Given the description of an element on the screen output the (x, y) to click on. 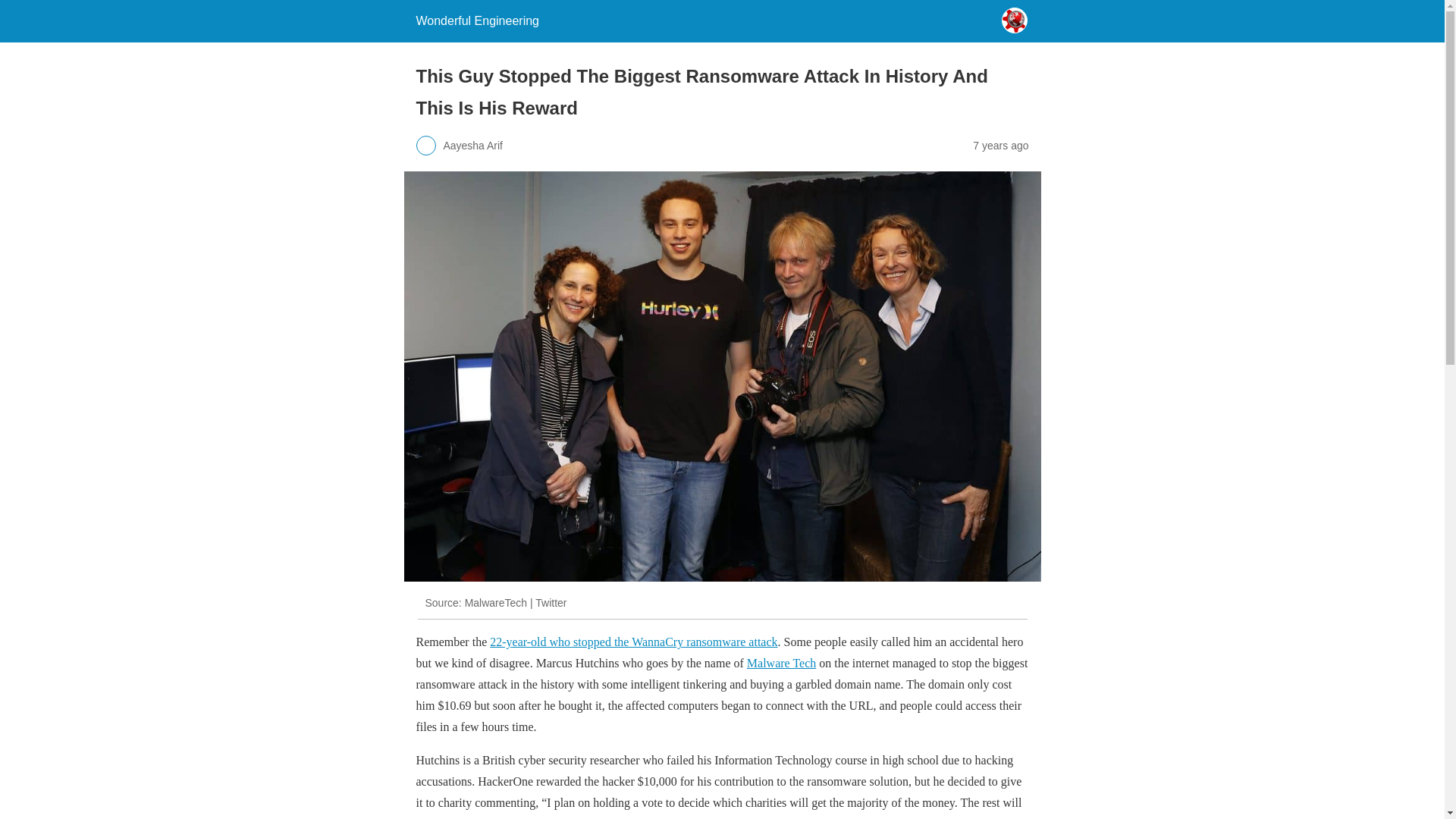
22-year-old who stopped the WannaCry ransomware attack (633, 641)
Wonderful Engineering (476, 20)
Malware Tech (780, 662)
